Given the description of an element on the screen output the (x, y) to click on. 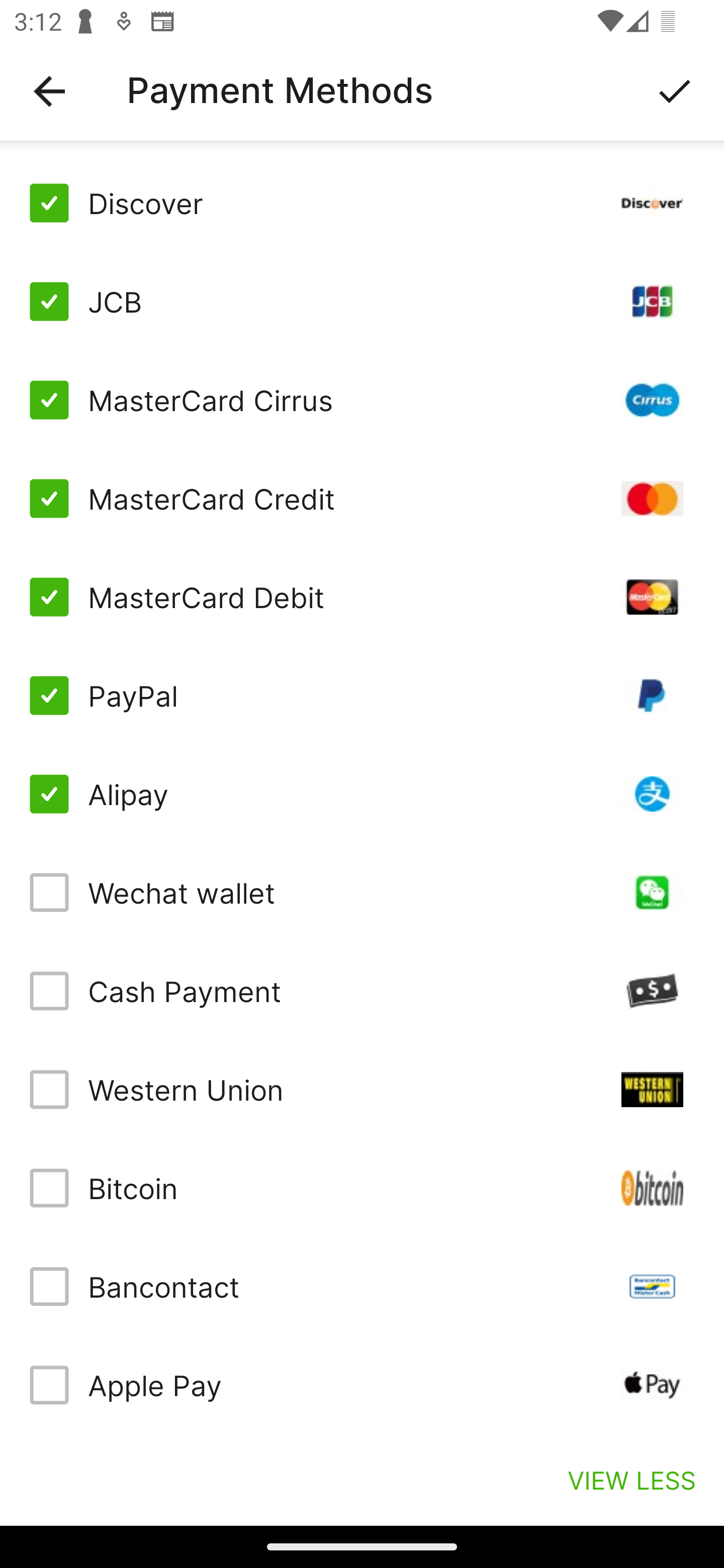
Discover (362, 202)
JCB (362, 301)
MasterCard Cirrus (362, 400)
MasterCard Credit (362, 498)
MasterCard Debit (362, 596)
PayPal (362, 695)
Alipay (362, 793)
Wechat wallet (362, 892)
Cash Payment (362, 990)
Western Union (362, 1088)
Bitcoin (362, 1187)
Bancontact (362, 1286)
Apple Pay (362, 1384)
VIEW LESS (631, 1479)
